Given the description of an element on the screen output the (x, y) to click on. 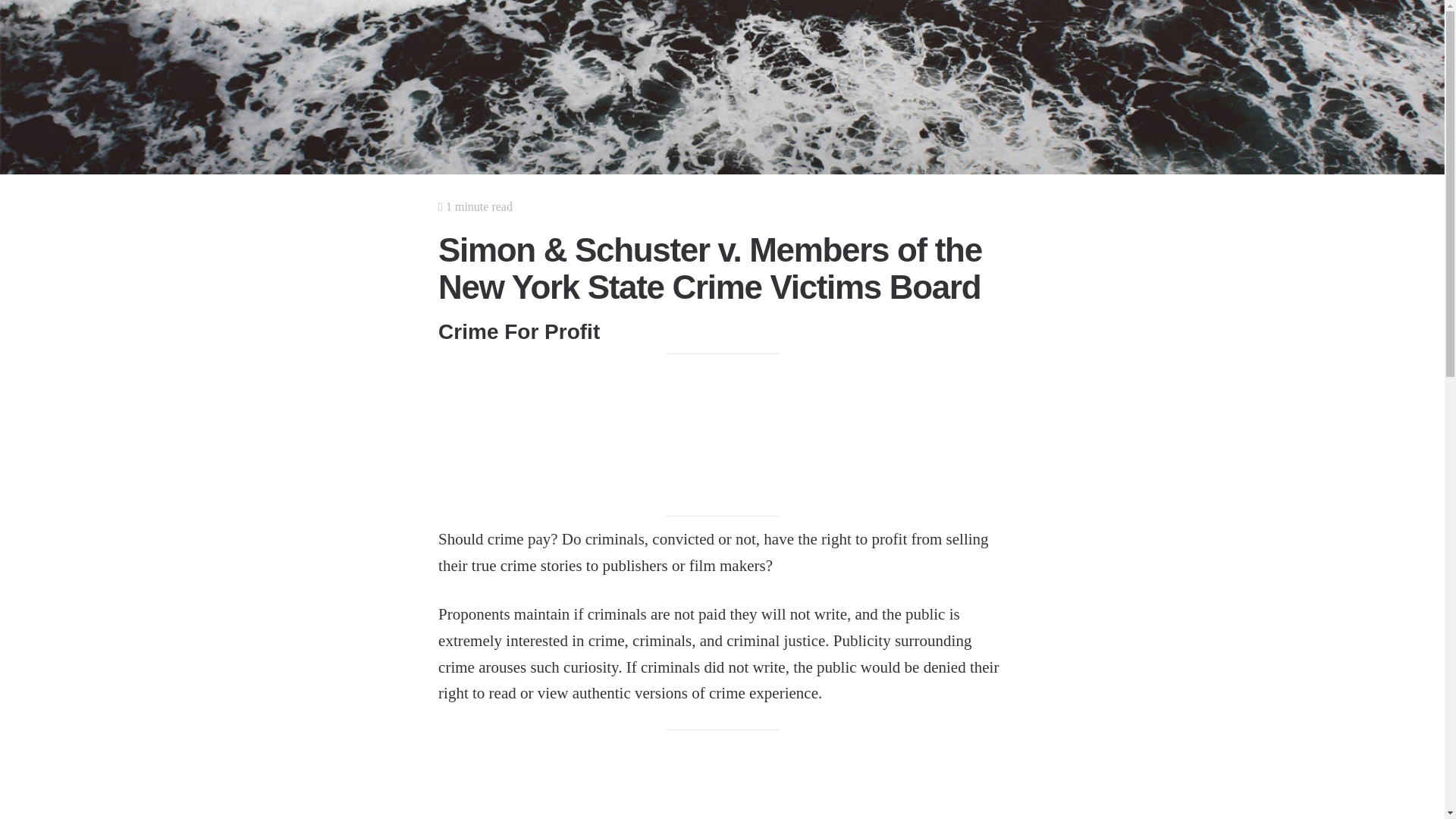
Advertisement (722, 779)
Advertisement (722, 434)
